Given the description of an element on the screen output the (x, y) to click on. 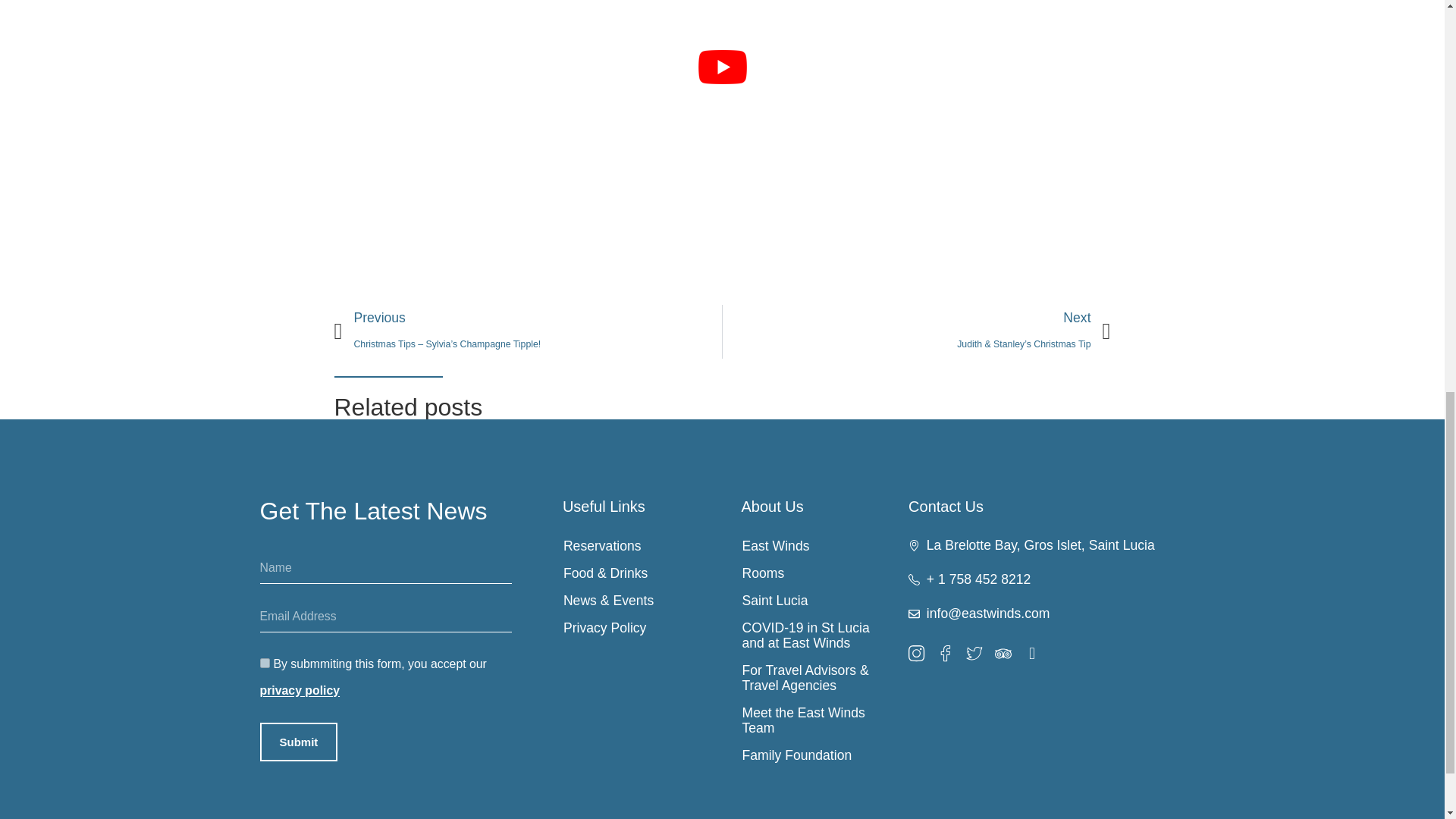
Rooms (811, 573)
Family Foundation (811, 755)
Meet the East Winds Team (811, 720)
Privacy Policy (632, 627)
East Winds (811, 545)
Submit (298, 741)
Reservations (632, 545)
Saint Lucia (811, 600)
privacy policy (299, 689)
COVID-19 in St Lucia and at East Winds (811, 635)
